Given the description of an element on the screen output the (x, y) to click on. 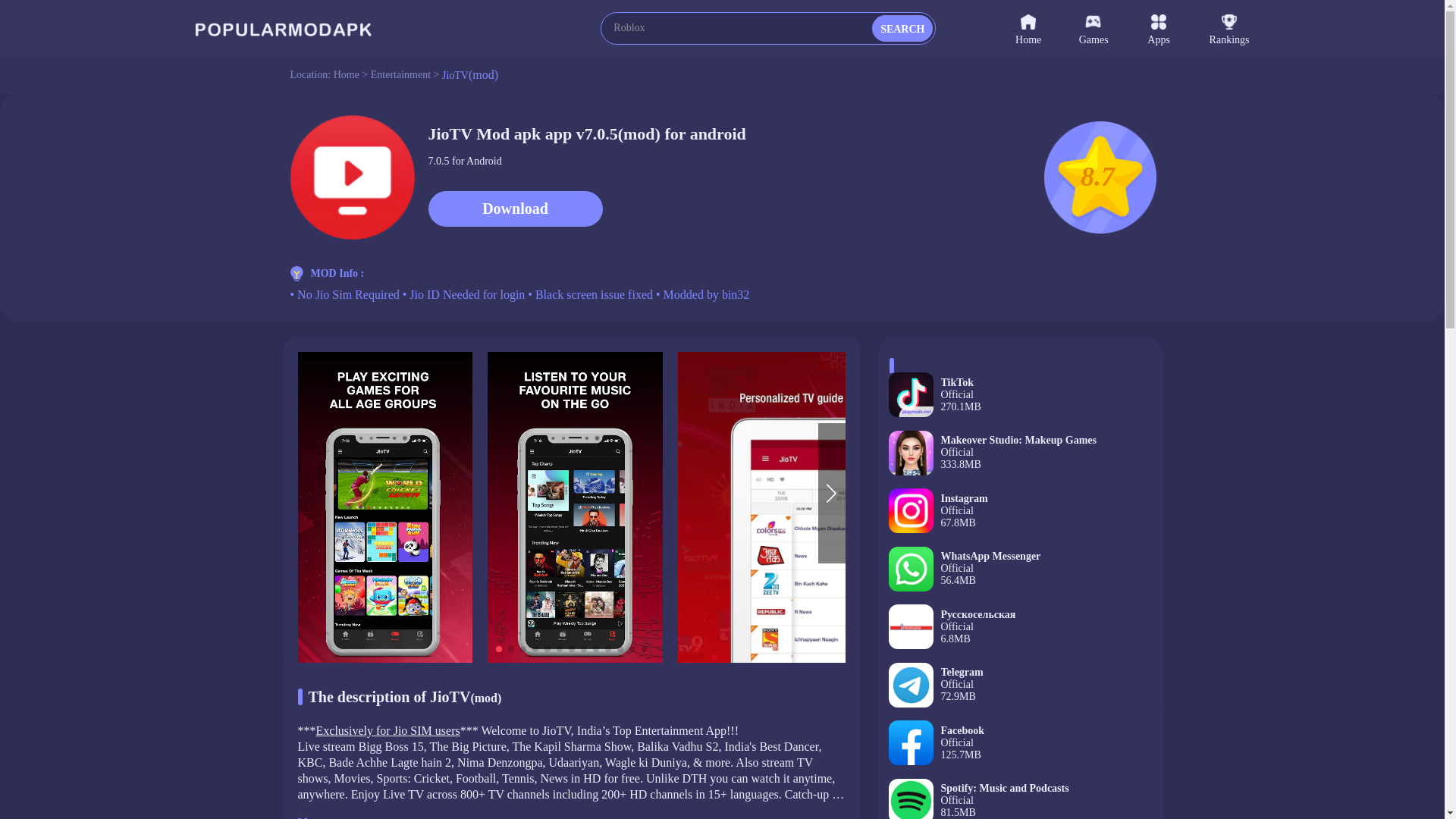
Games (1019, 749)
Download (1111, 27)
Entertainment (515, 208)
Apps (400, 74)
Home (1019, 517)
Rankings (1177, 27)
